Given the description of an element on the screen output the (x, y) to click on. 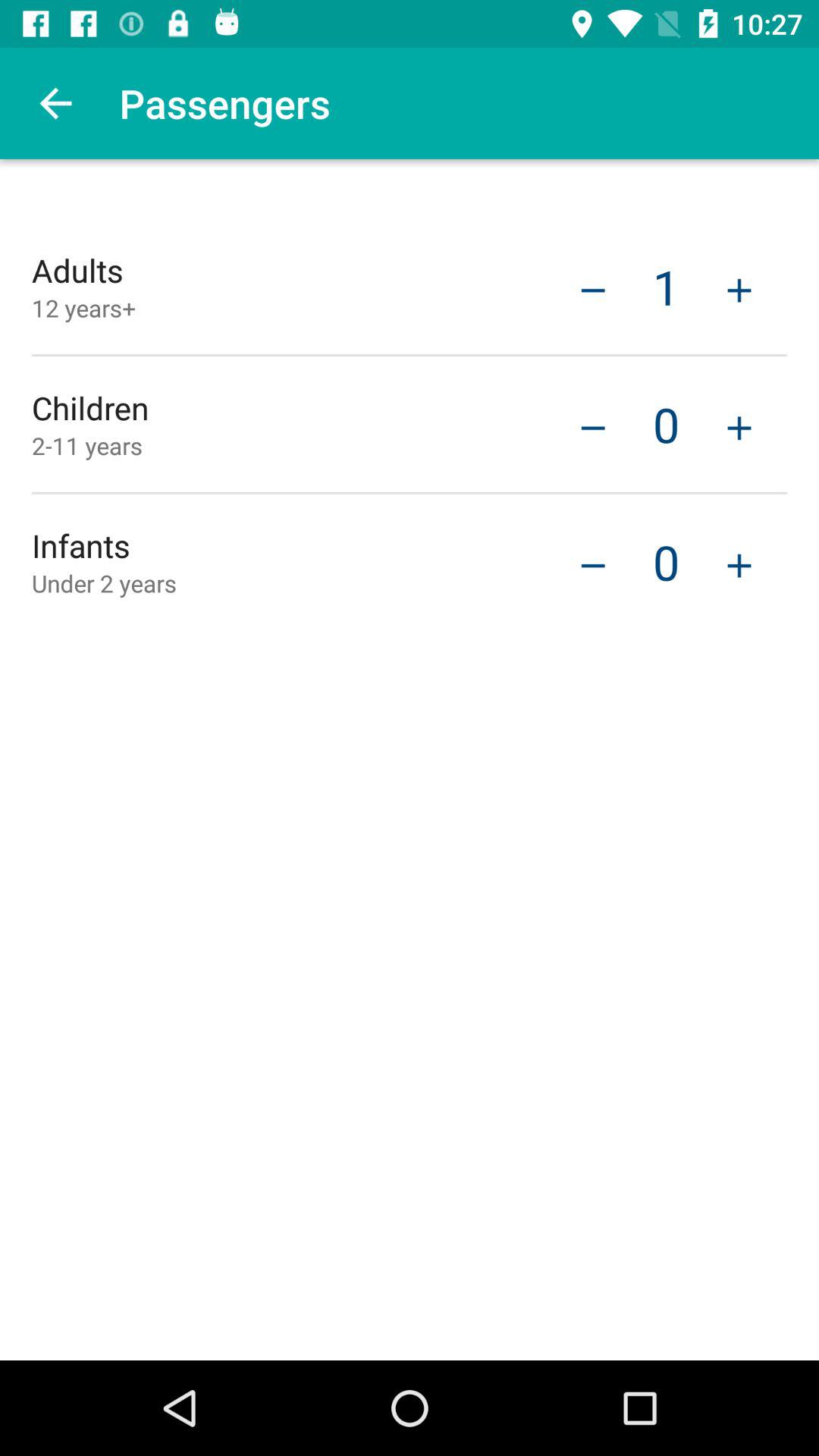
less the count option (592, 563)
